Given the description of an element on the screen output the (x, y) to click on. 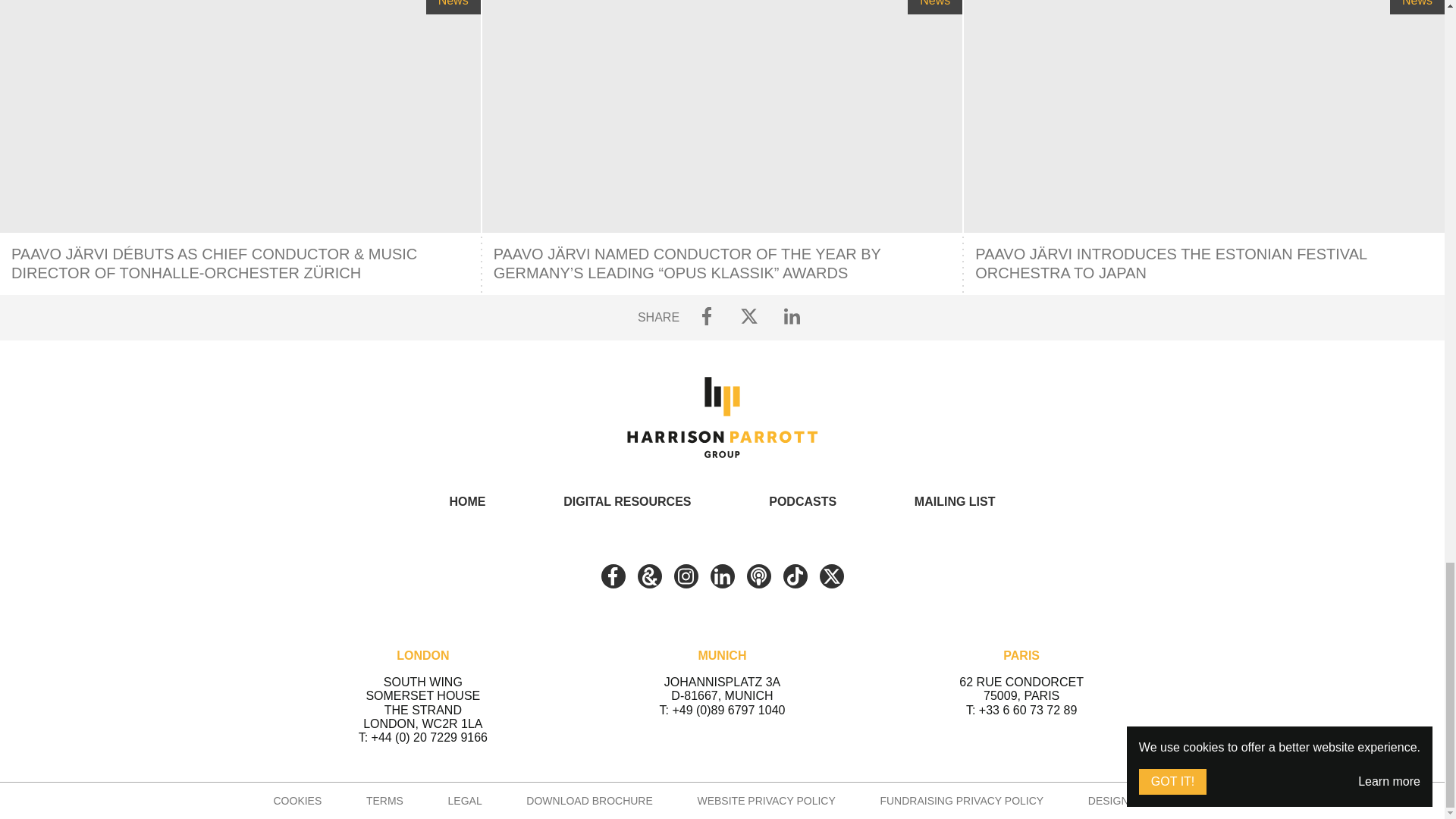
HOME (466, 501)
INSTAGRAM (684, 576)
PODCASTS (801, 501)
DIGITAL RESOURCES (626, 501)
TikTok (794, 576)
Google Arts and Culture (649, 576)
COOKIES (297, 800)
Facebook (611, 576)
PODCAST (757, 576)
DOWNLOAD BROCHURE (588, 800)
